Given the description of an element on the screen output the (x, y) to click on. 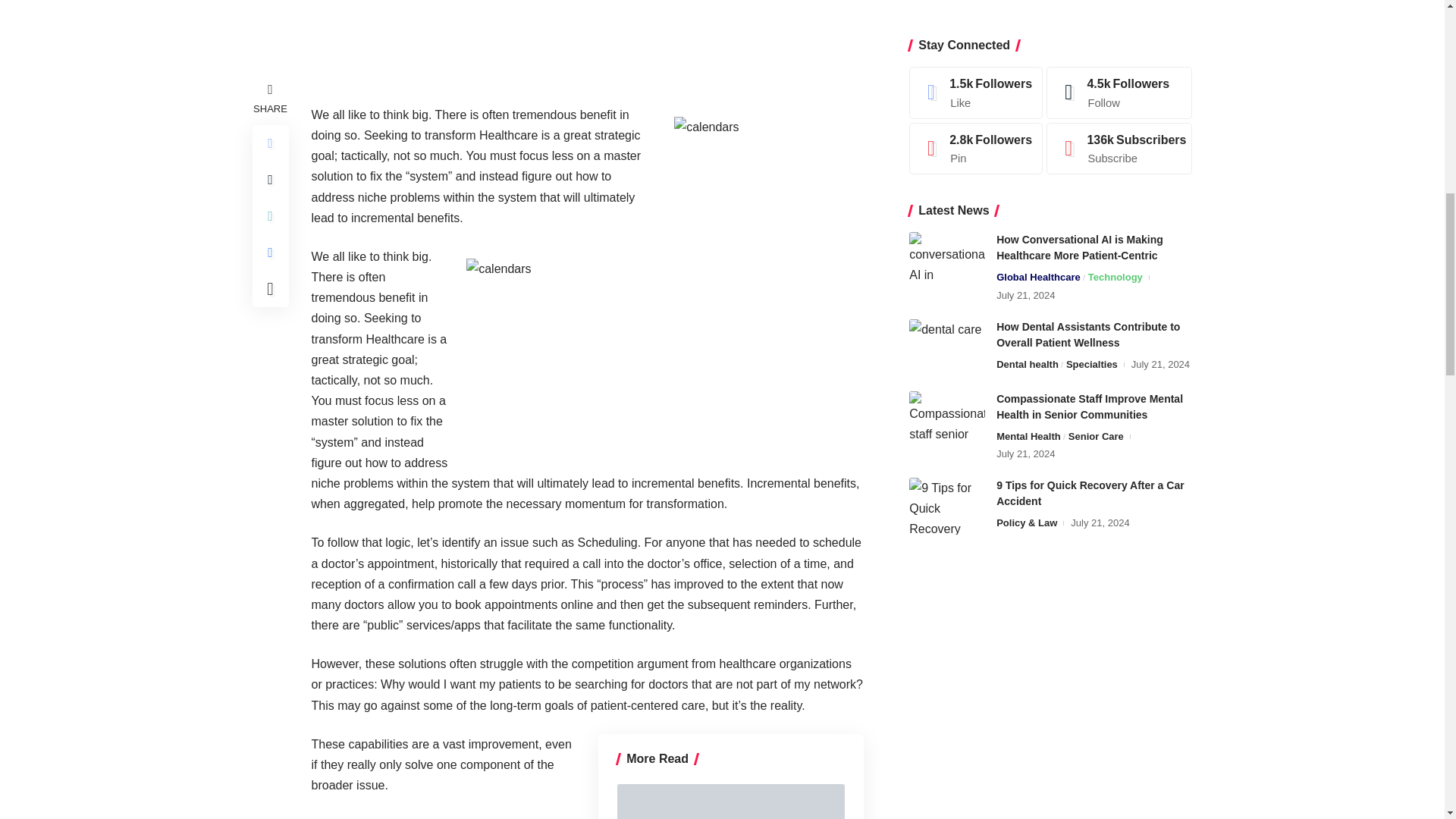
ACOs Rapidly Expanding Across States (730, 801)
